Given the description of an element on the screen output the (x, y) to click on. 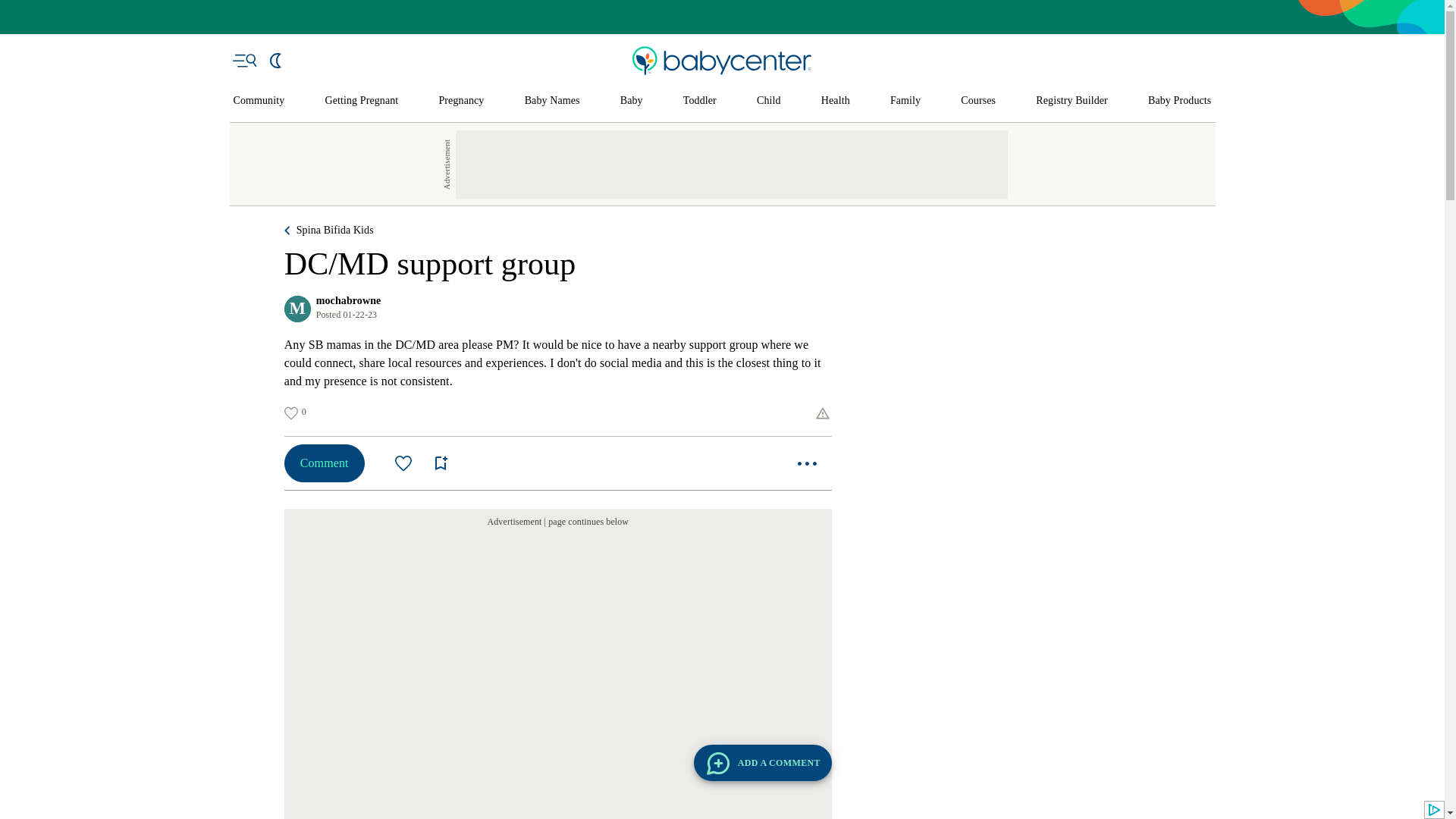
Baby Products (1179, 101)
Family (904, 101)
Baby Names (551, 101)
Baby (631, 101)
Toddler (699, 101)
Health (835, 101)
Registry Builder (1071, 101)
Community (258, 101)
Pregnancy (460, 101)
Child (768, 101)
